Given the description of an element on the screen output the (x, y) to click on. 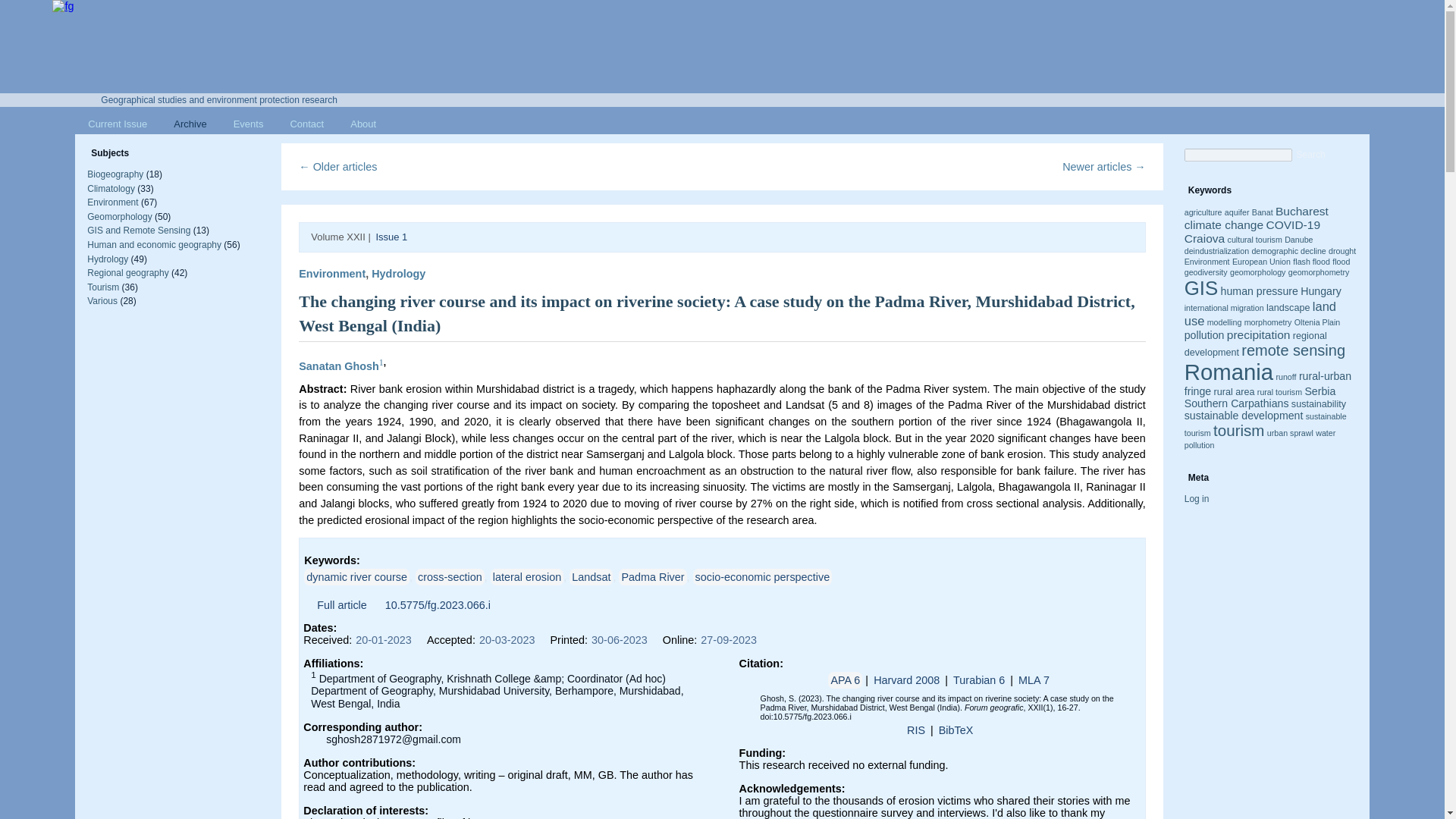
Climatology (111, 188)
Environment (331, 273)
Contact (306, 124)
dynamic river course (356, 576)
lateral erosion (526, 576)
Human and economic geography (154, 244)
Biogeography (114, 173)
cross-section (449, 576)
Current Issue (117, 124)
Archive (189, 124)
Events (248, 124)
Geomorphology (119, 216)
Current Issue (117, 124)
About (362, 124)
socio-economic perspective (762, 576)
